Given the description of an element on the screen output the (x, y) to click on. 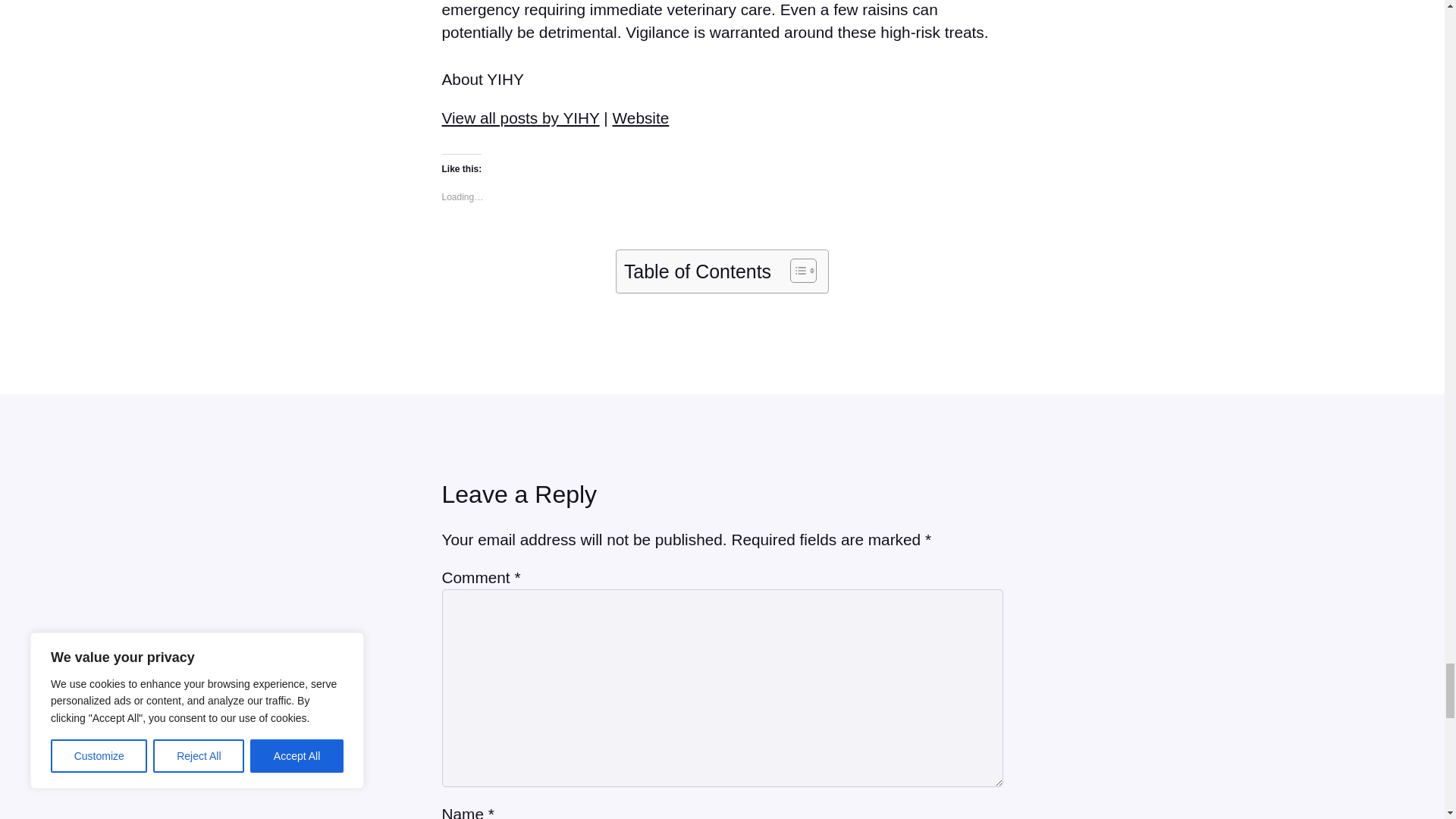
Website (640, 117)
View all posts by YIHY (519, 117)
